Given the description of an element on the screen output the (x, y) to click on. 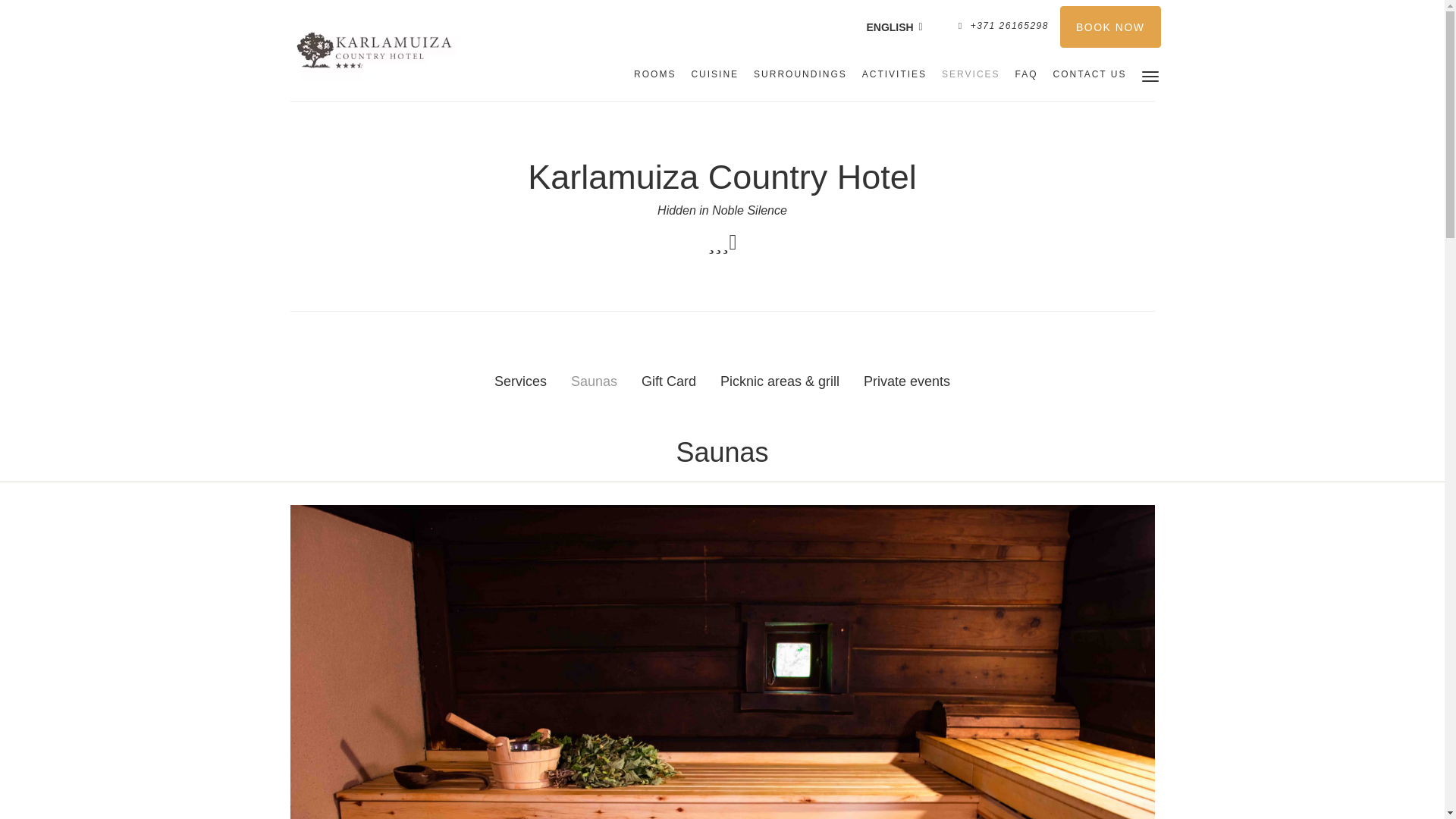
Saunas (593, 381)
SERVICES (970, 74)
Gift Card (668, 381)
CUISINE (713, 74)
ACTIVITIES (894, 74)
ROOMS (654, 74)
Private events (905, 381)
SURROUNDINGS (799, 74)
ENGLISH (894, 27)
CONTACT US (1089, 74)
